Given the description of an element on the screen output the (x, y) to click on. 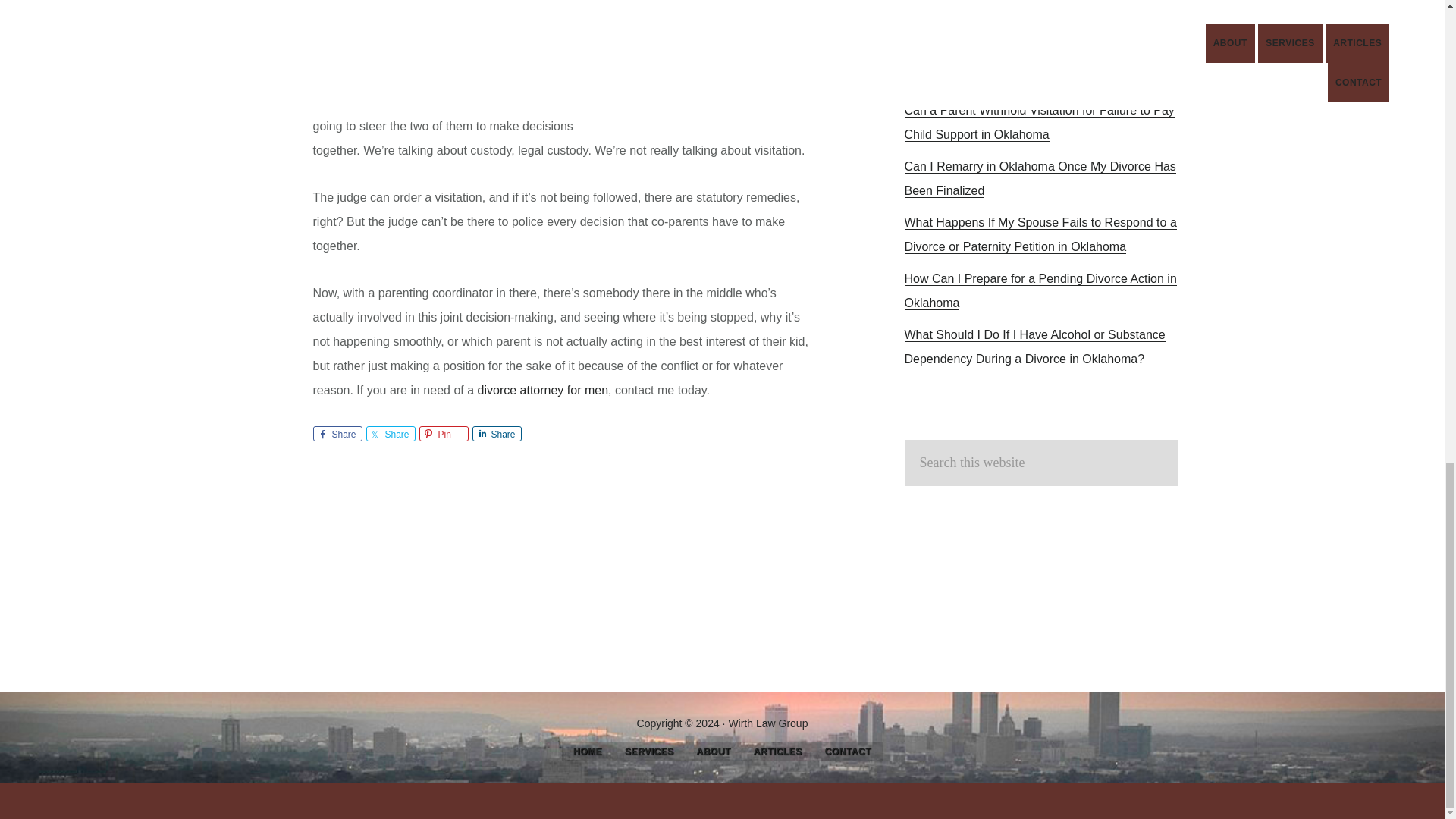
Share (496, 433)
Pin (443, 433)
Share (337, 433)
Share (389, 433)
divorce attorney for men (542, 390)
